Given the description of an element on the screen output the (x, y) to click on. 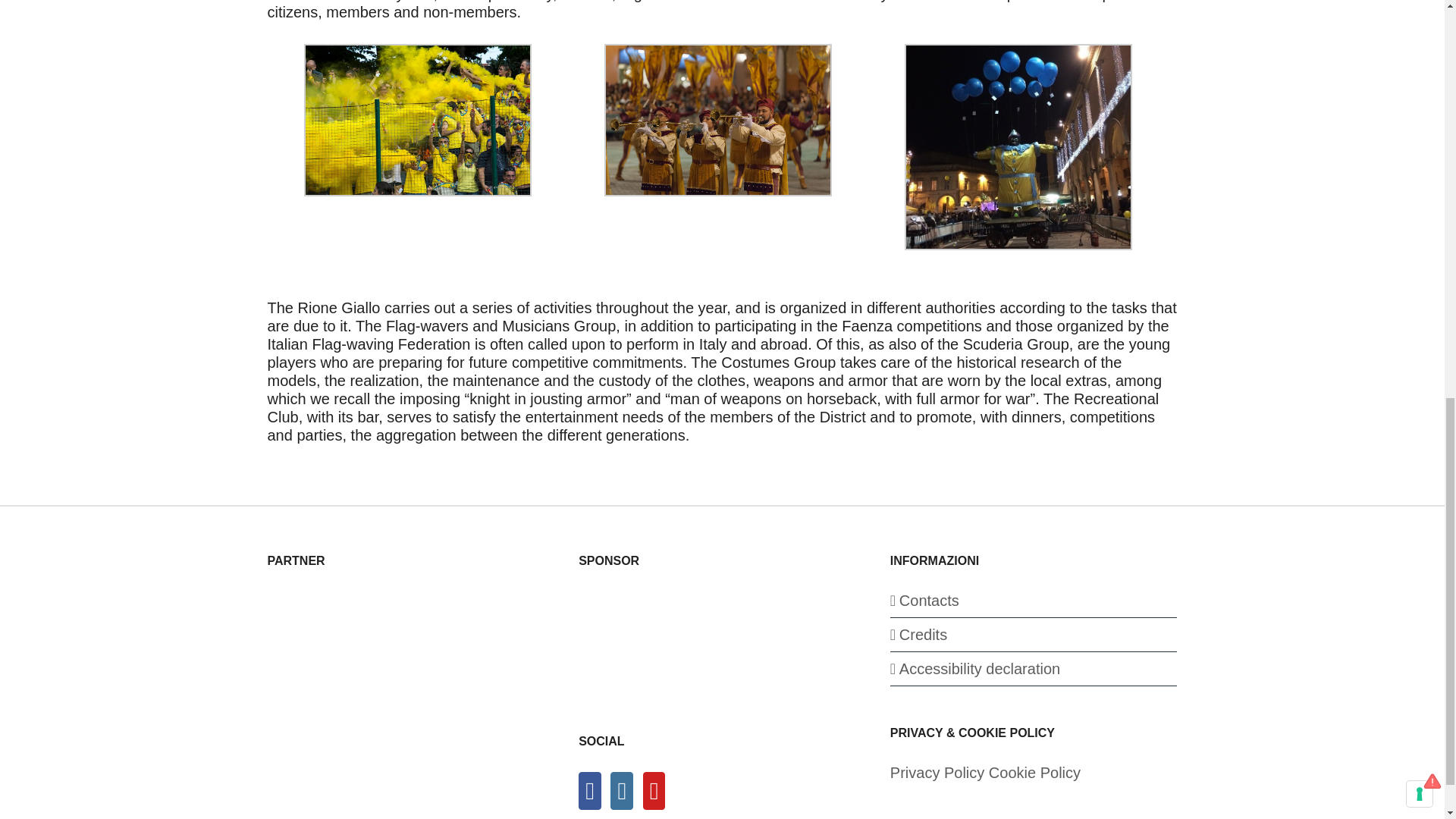
Privacy Policy  (936, 772)
Cookie Policy  (1034, 772)
Sponsor (692, 643)
